Given the description of an element on the screen output the (x, y) to click on. 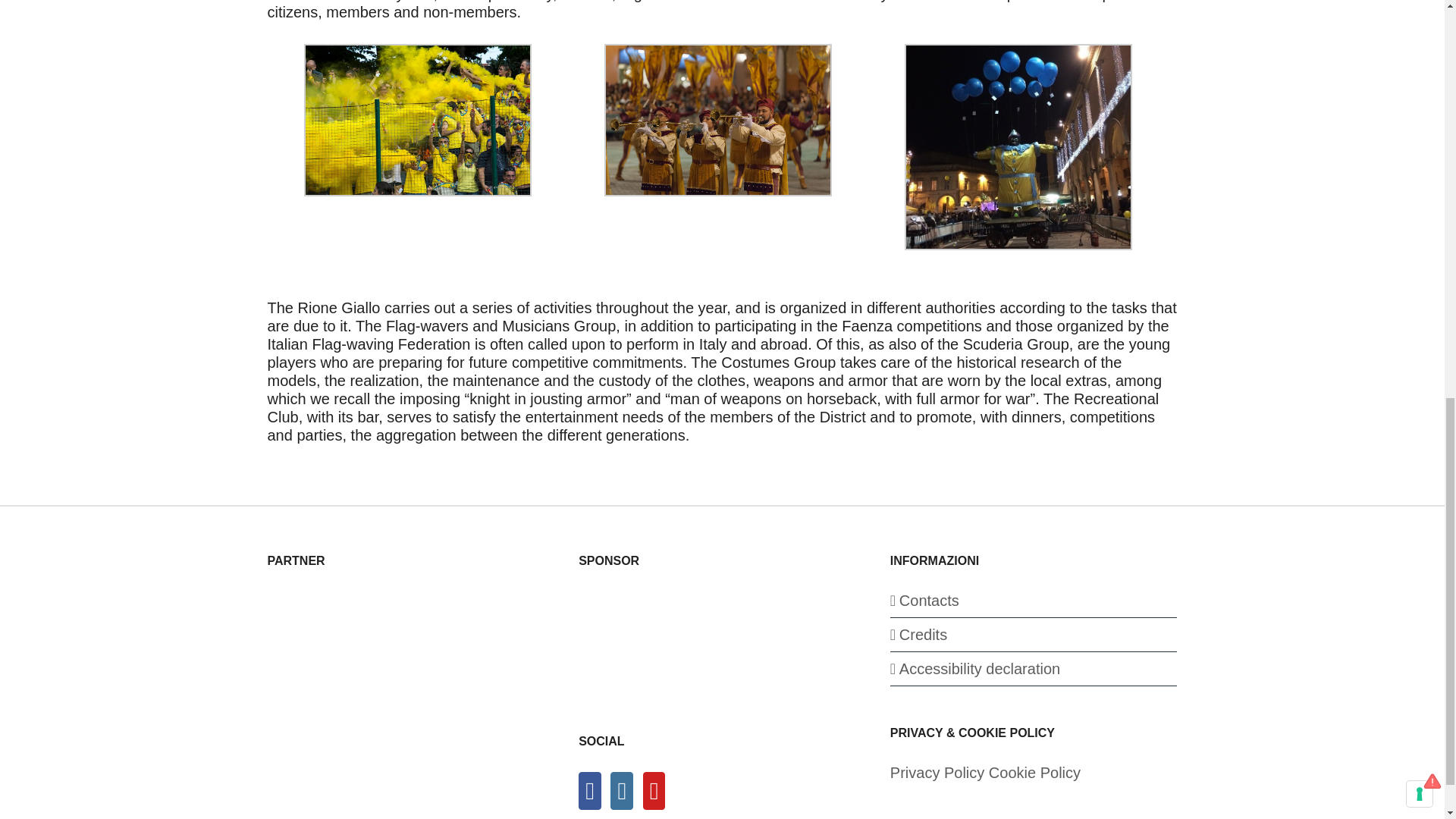
Privacy Policy  (936, 772)
Cookie Policy  (1034, 772)
Sponsor (692, 643)
